Given the description of an element on the screen output the (x, y) to click on. 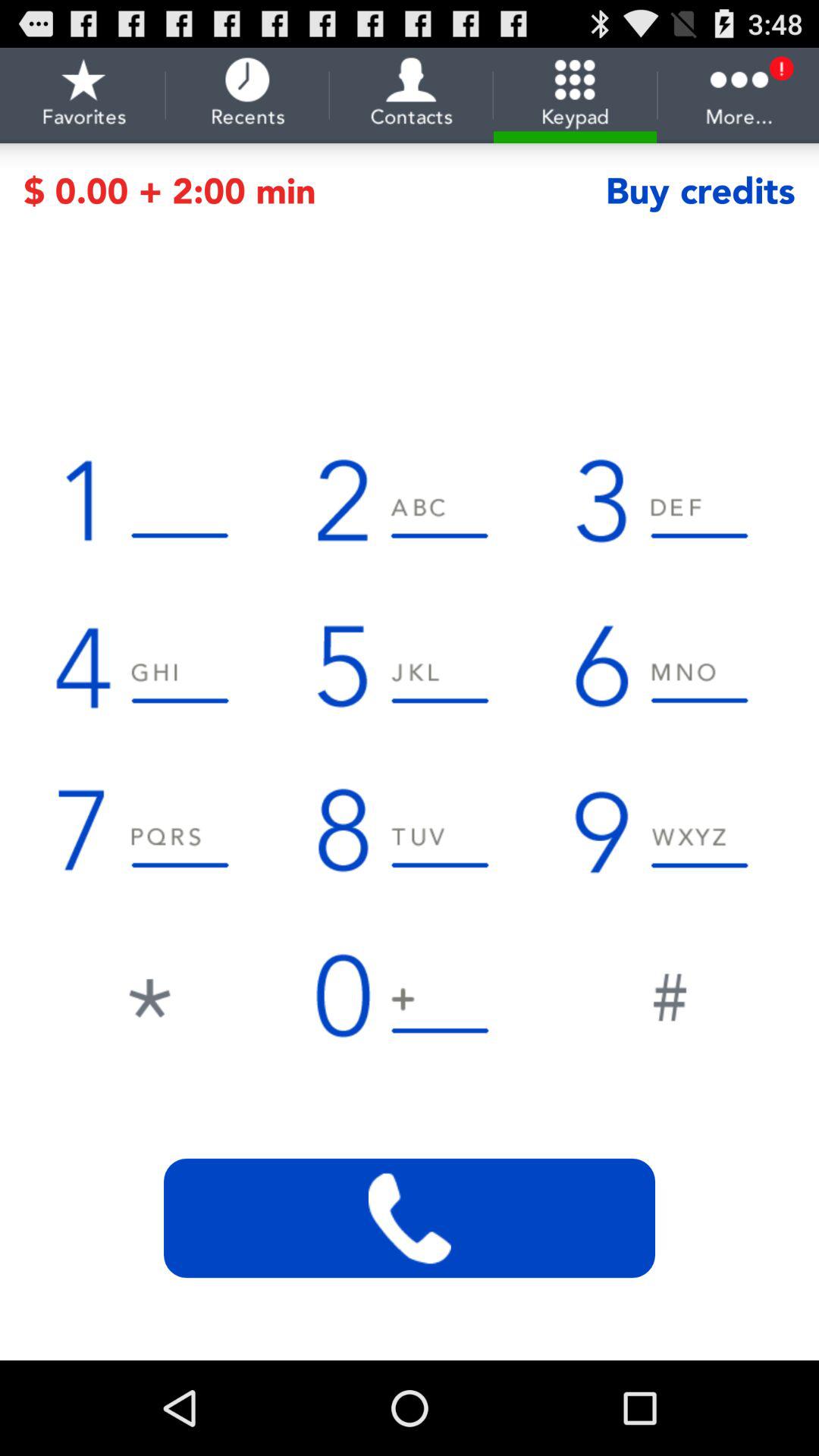
launch the item to the right of the 0 00 2 (700, 190)
